Given the description of an element on the screen output the (x, y) to click on. 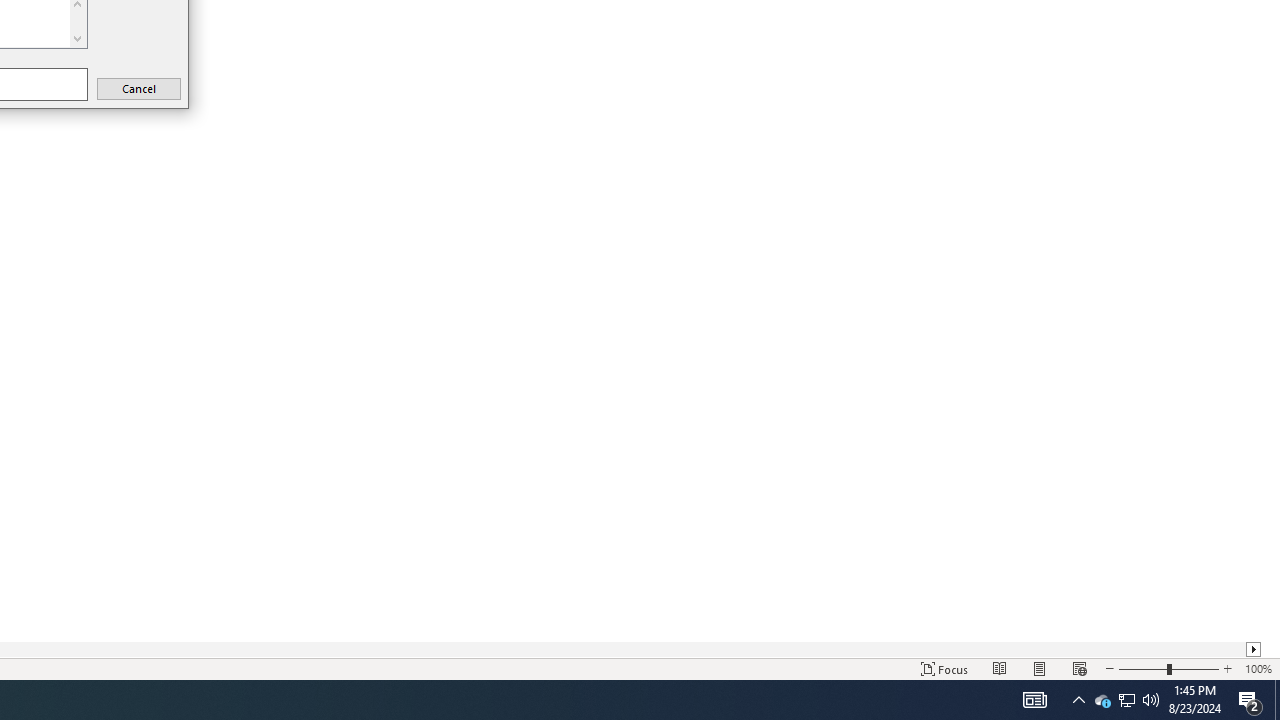
Line down (77, 38)
Column right (1254, 649)
